Given the description of an element on the screen output the (x, y) to click on. 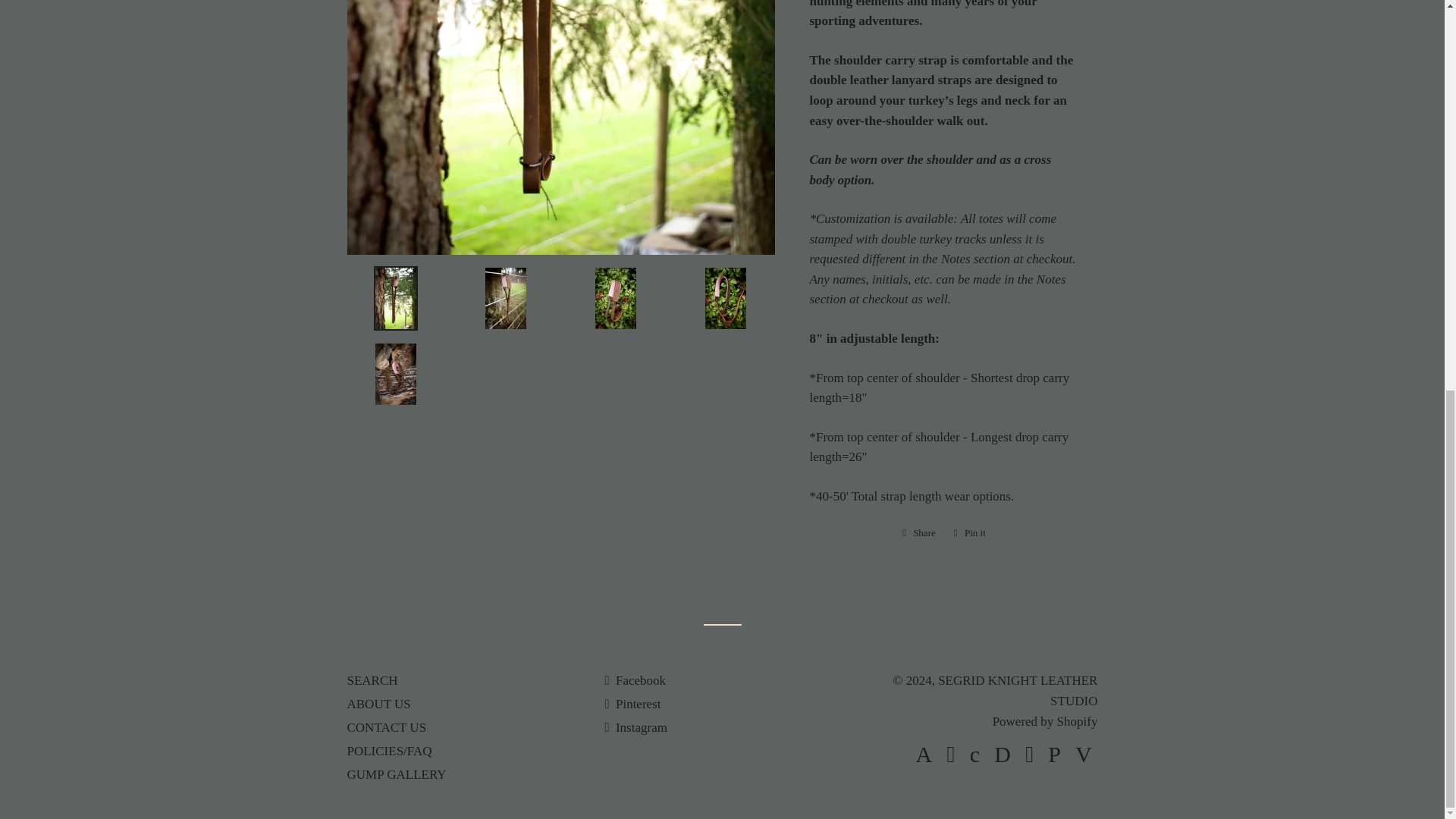
SEGRID KNIGHT LEATHER STUDIO on Instagram (635, 727)
SEGRID KNIGHT LEATHER STUDIO on Pinterest (632, 703)
Pin on Pinterest (969, 532)
Share on Facebook (919, 532)
SEGRID KNIGHT LEATHER STUDIO on Facebook (634, 680)
